Given the description of an element on the screen output the (x, y) to click on. 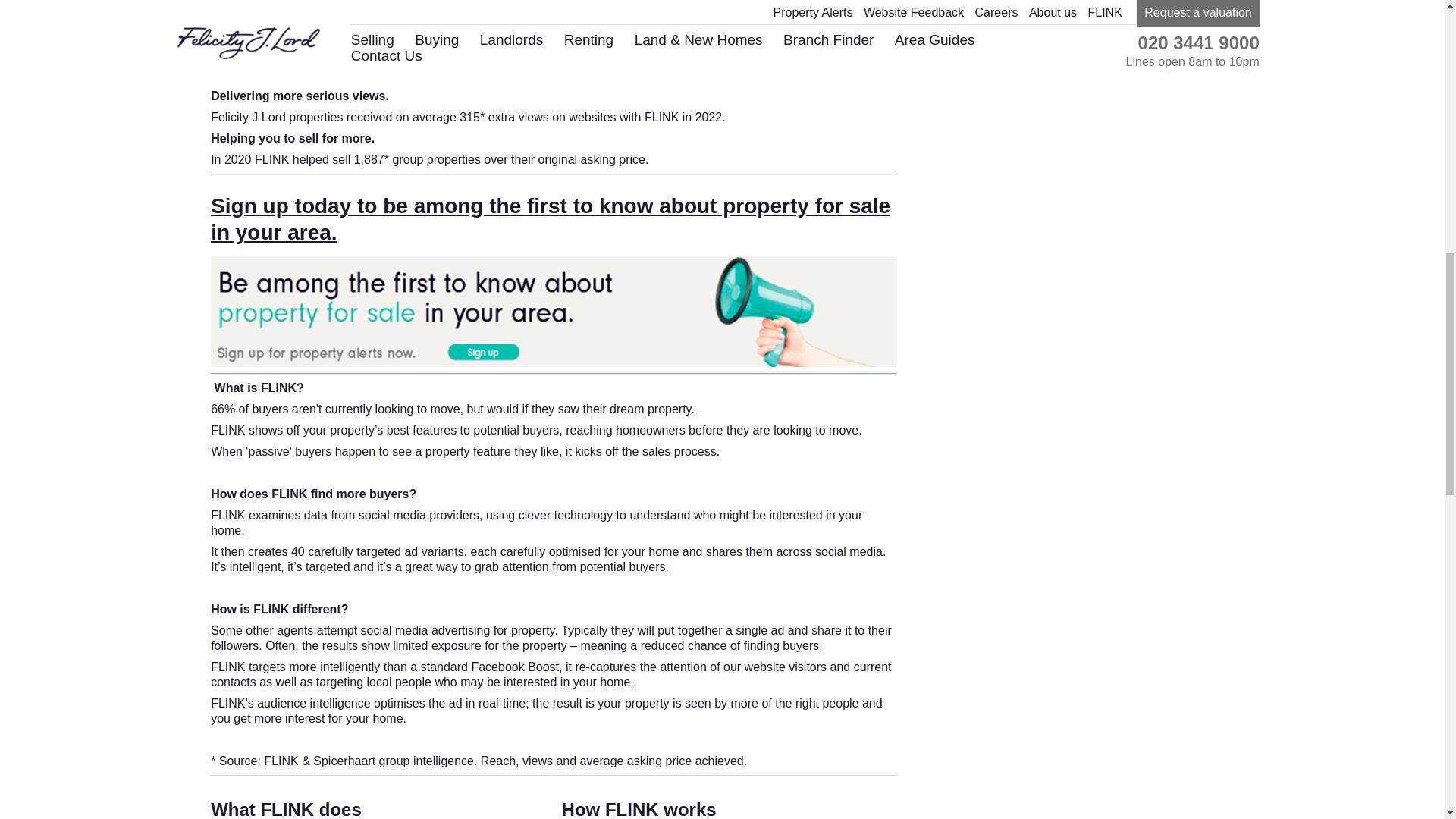
Felicity J Lord Property Alerts (553, 358)
Felicity J. Lord Property Alerts (550, 219)
What FLINK does (286, 809)
How FLINK works (639, 809)
